Given the description of an element on the screen output the (x, y) to click on. 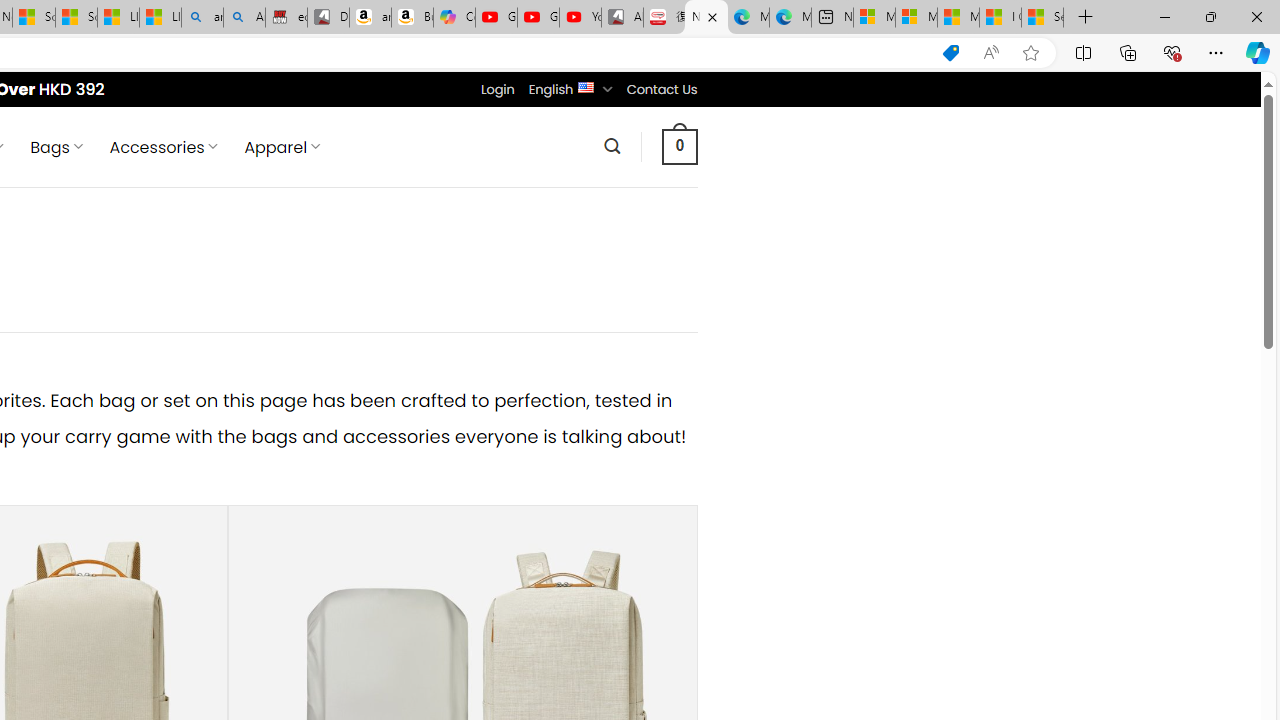
I Gained 20 Pounds of Muscle in 30 Days! | Watch (1000, 17)
Login (497, 89)
Gloom - YouTube (538, 17)
Contact Us (661, 89)
Login (497, 89)
Nordace - Best Sellers (706, 17)
